Given the description of an element on the screen output the (x, y) to click on. 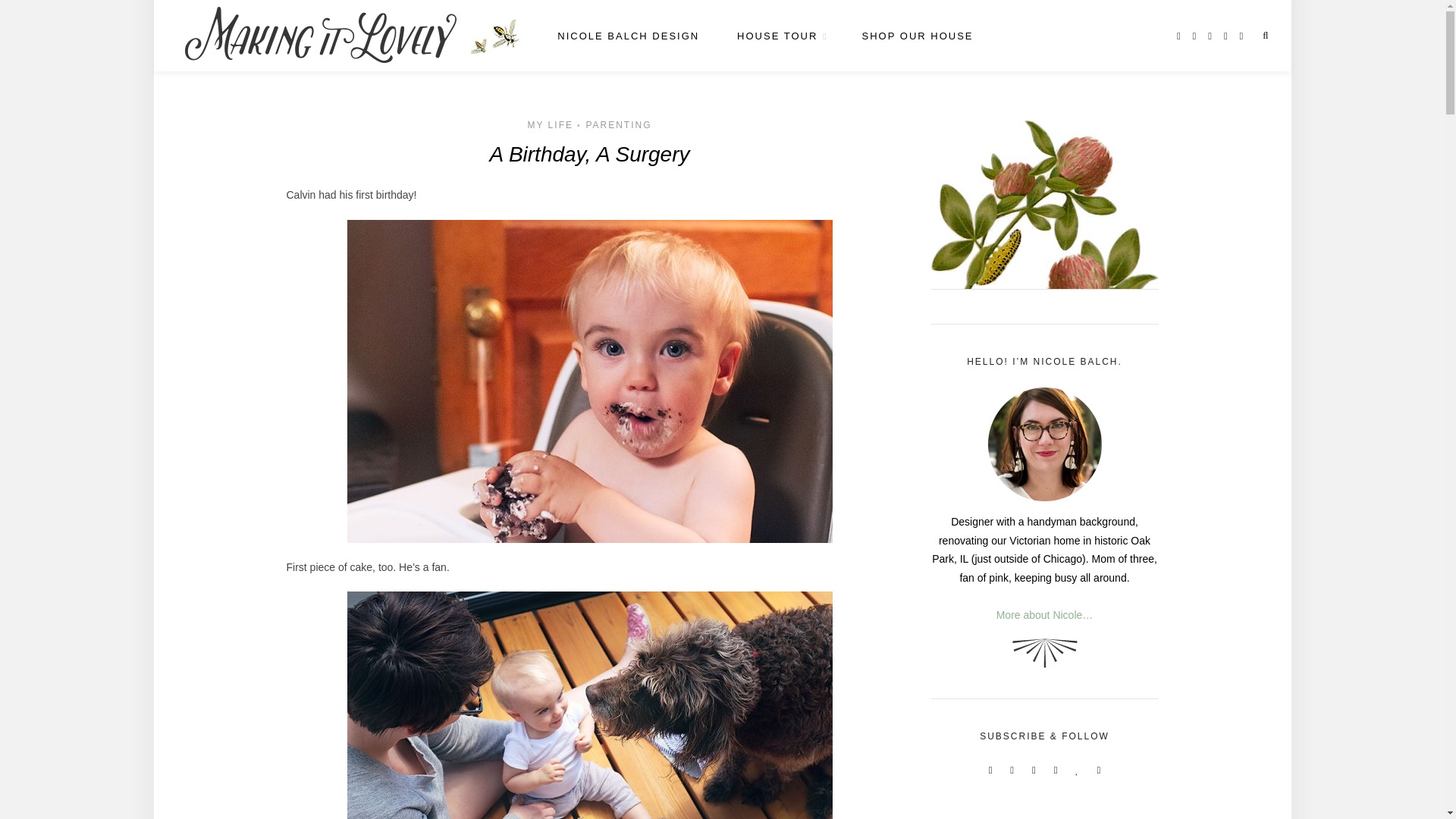
NICOLE BALCH DESIGN (627, 36)
MY LIFE (550, 124)
Home (494, 36)
PARENTING (617, 124)
SHOP OUR HOUSE (917, 36)
HOUSE TOUR (780, 36)
